Given the description of an element on the screen output the (x, y) to click on. 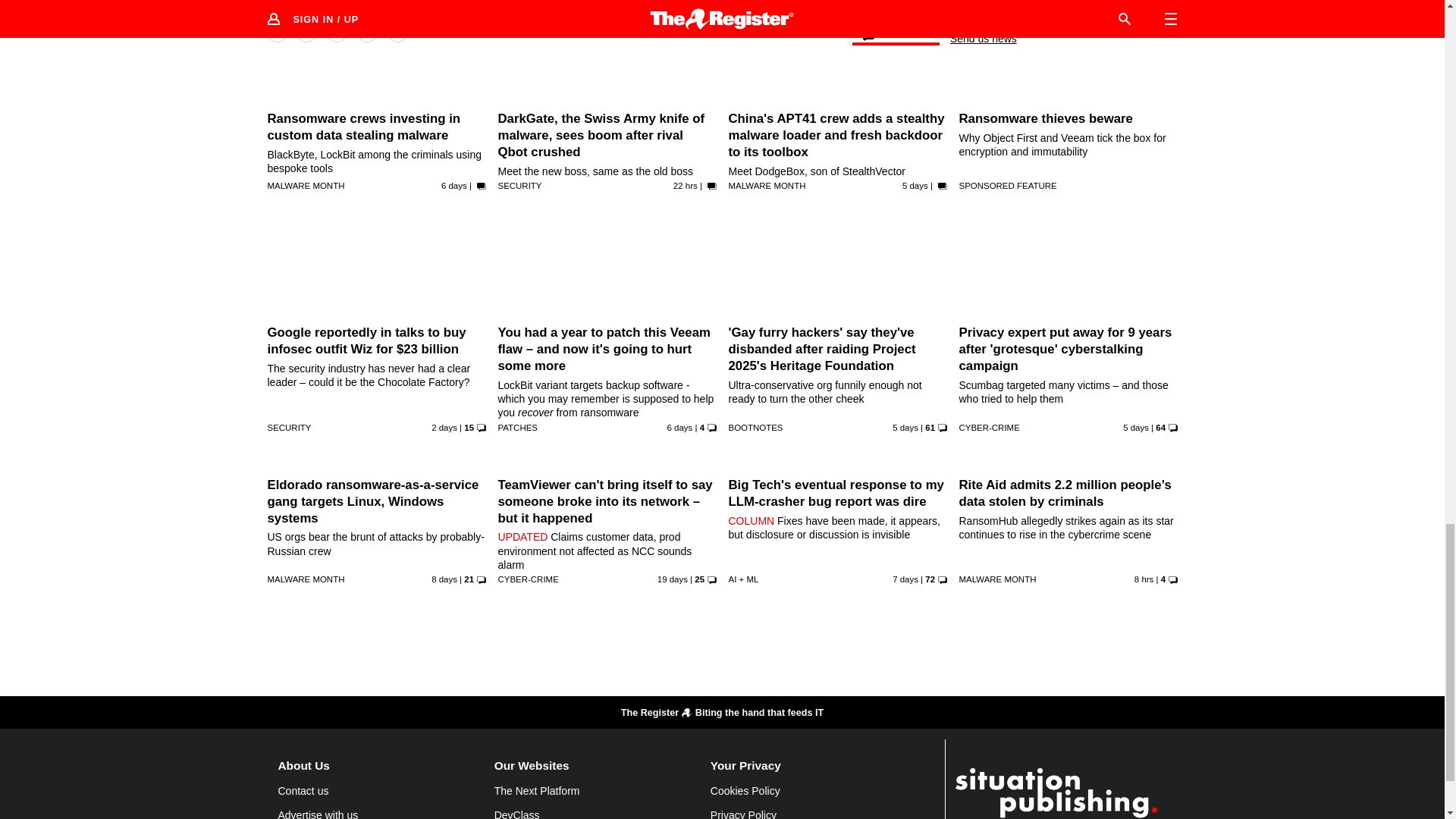
16 Jul 2024 0:15 (684, 185)
12 Jul 2024 1:29 (915, 185)
9 Jul 2024 7:29 (443, 578)
View comments on this article (895, 36)
11 Jul 2024 7:28 (679, 427)
12 Jul 2024 0:22 (905, 427)
10 Jul 2024 10:0 (454, 185)
28 Jun 2024 0:37 (672, 578)
15 Jul 2024 4:39 (443, 427)
11 Jul 2024 10:29 (1135, 427)
